Given the description of an element on the screen output the (x, y) to click on. 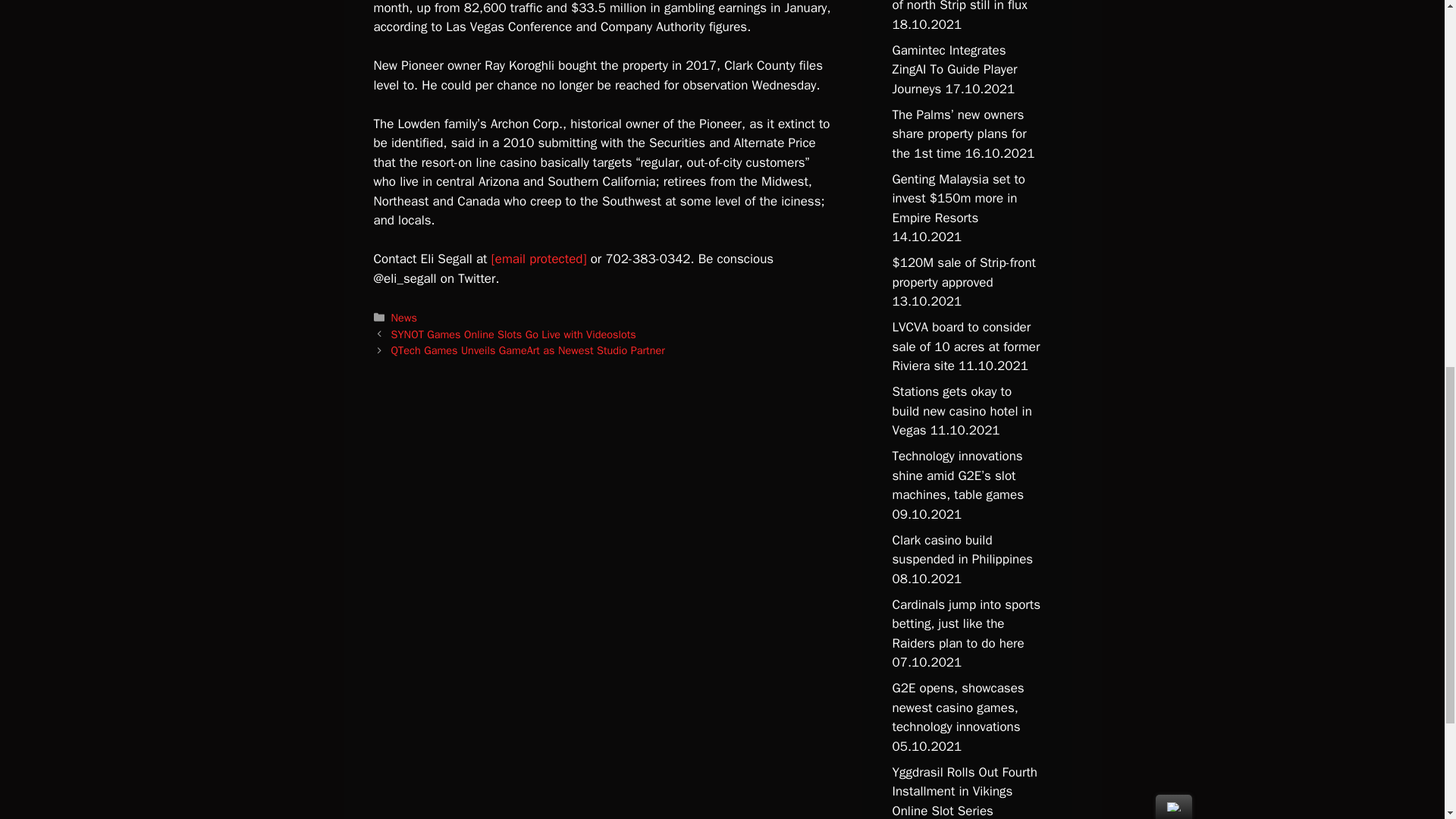
News (403, 317)
Gamintec Integrates ZingAI To Guide Player Journeys (953, 69)
Previous (513, 334)
Clark casino build suspended in Philippines (961, 550)
Next (528, 350)
QTech Games Unveils GameArt as Newest Studio Partner (528, 350)
SYNOT Games Online Slots Go Live with Videoslots (513, 334)
Stations gets okay to build new casino hotel in Vegas (960, 411)
After years of hope, future of north Strip still in flux (965, 6)
